Given the description of an element on the screen output the (x, y) to click on. 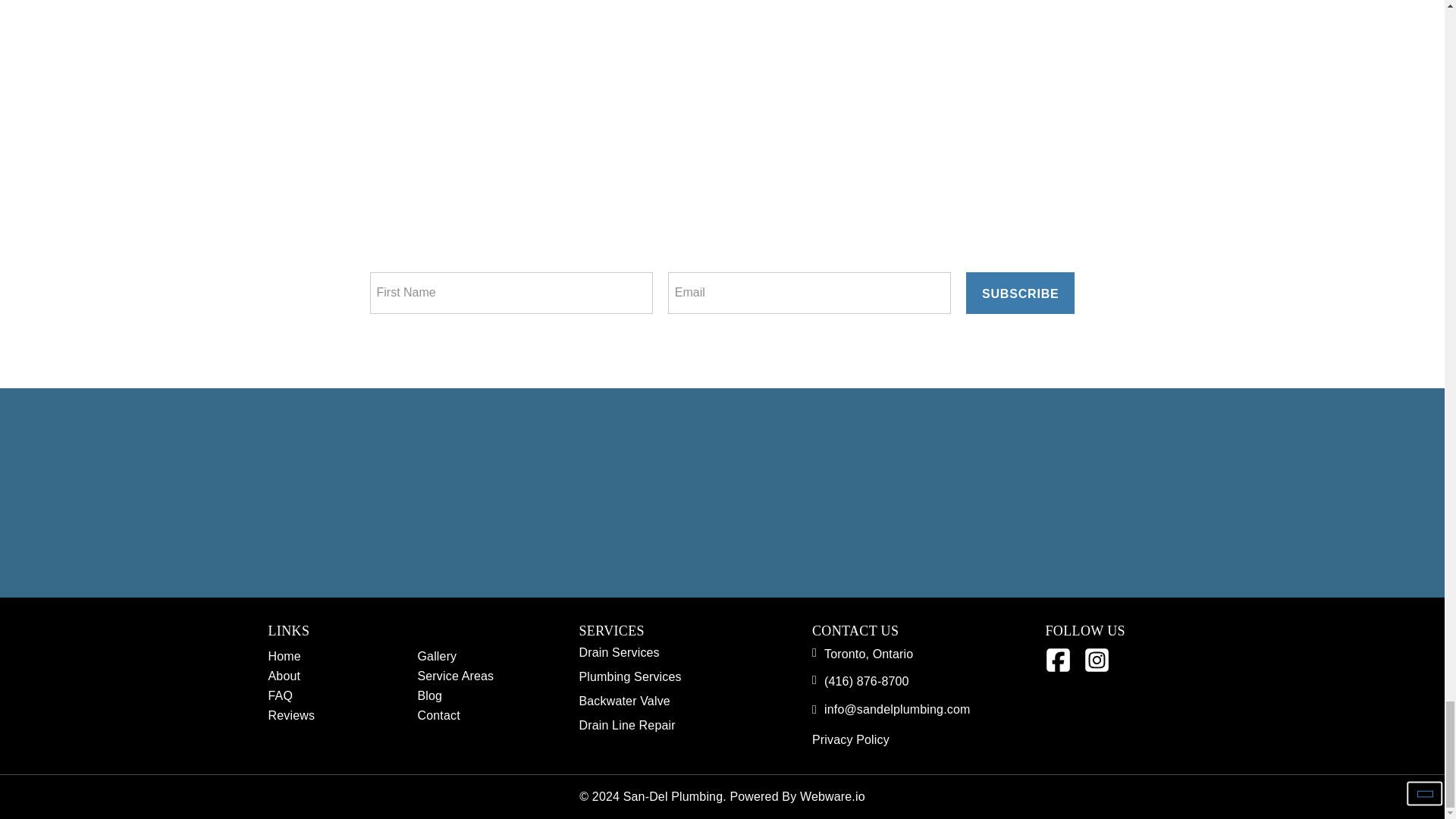
Home (284, 655)
About (284, 675)
Subscribe (1020, 291)
Subscribe (1020, 291)
